Given the description of an element on the screen output the (x, y) to click on. 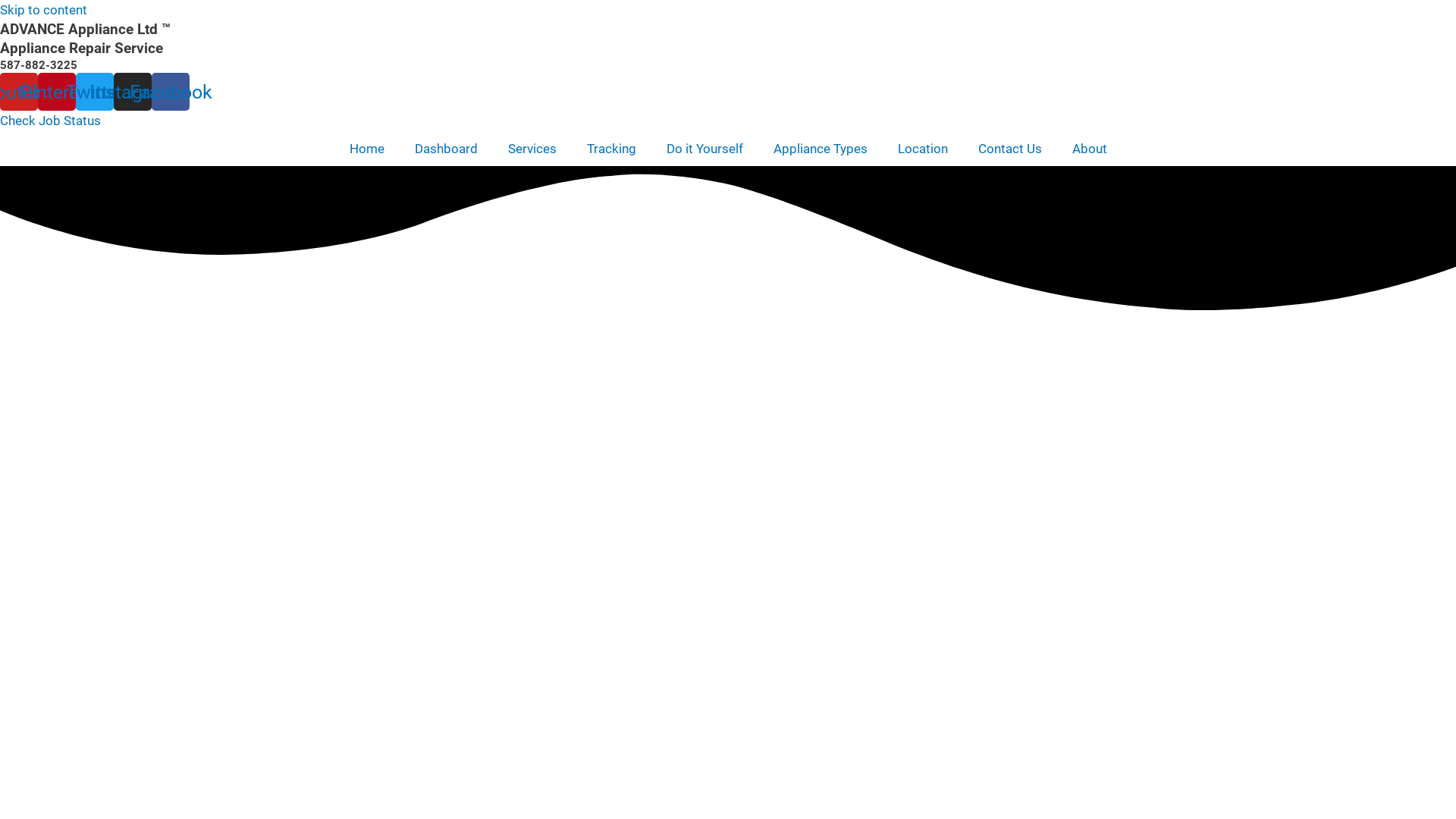
Location Element type: text (922, 148)
Services Element type: text (531, 148)
Skip to content Element type: text (43, 9)
About Element type: text (1089, 148)
Youtube Element type: text (18, 91)
Home Element type: text (365, 148)
Tracking Element type: text (611, 148)
Twitter Element type: text (94, 91)
Facebook Element type: text (170, 91)
Check Job Status Element type: text (50, 120)
Instagram Element type: text (132, 91)
Pinterest Element type: text (56, 91)
Do it Yourself Element type: text (703, 148)
587-882-3225 Element type: text (38, 65)
Dashboard Element type: text (445, 148)
Contact Us Element type: text (1010, 148)
Appliance Types Element type: text (820, 148)
